Given the description of an element on the screen output the (x, y) to click on. 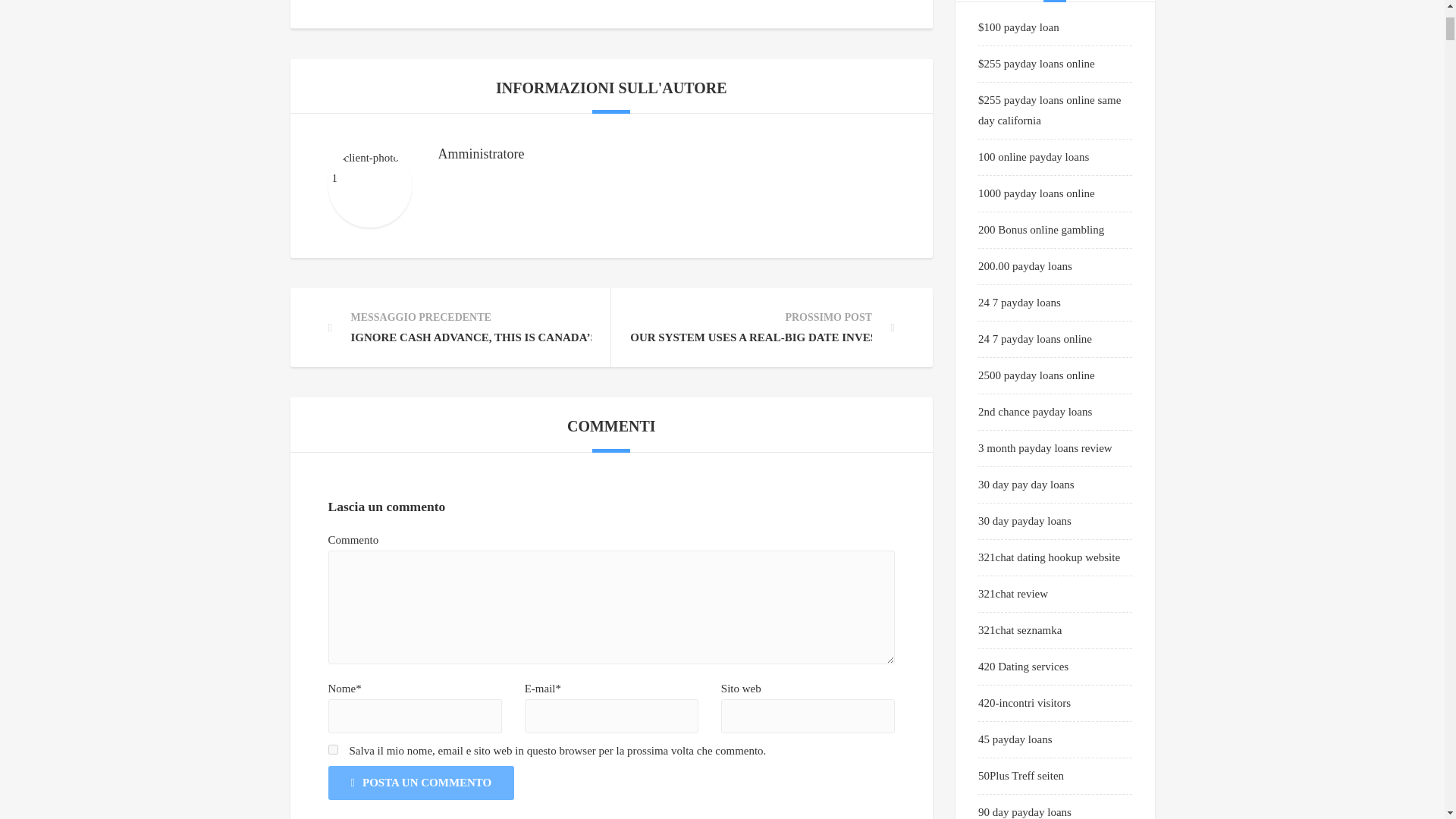
POSTA UN COMMENTO (420, 782)
yes (332, 749)
